Given the description of an element on the screen output the (x, y) to click on. 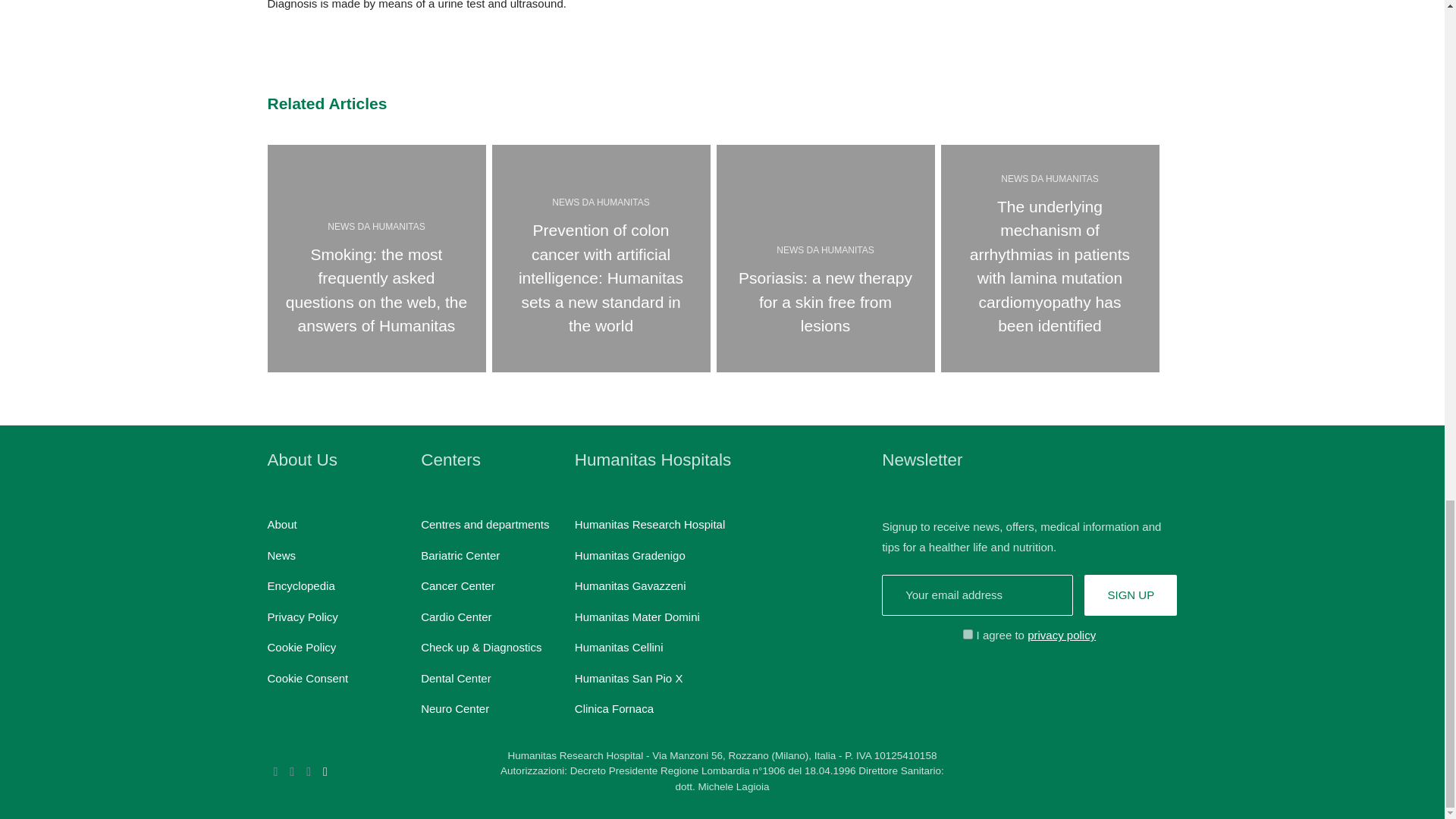
on (967, 634)
Sign up (1130, 595)
About (281, 523)
News (280, 554)
Encyclopedia (300, 585)
Privacy Policy (301, 616)
